Given the description of an element on the screen output the (x, y) to click on. 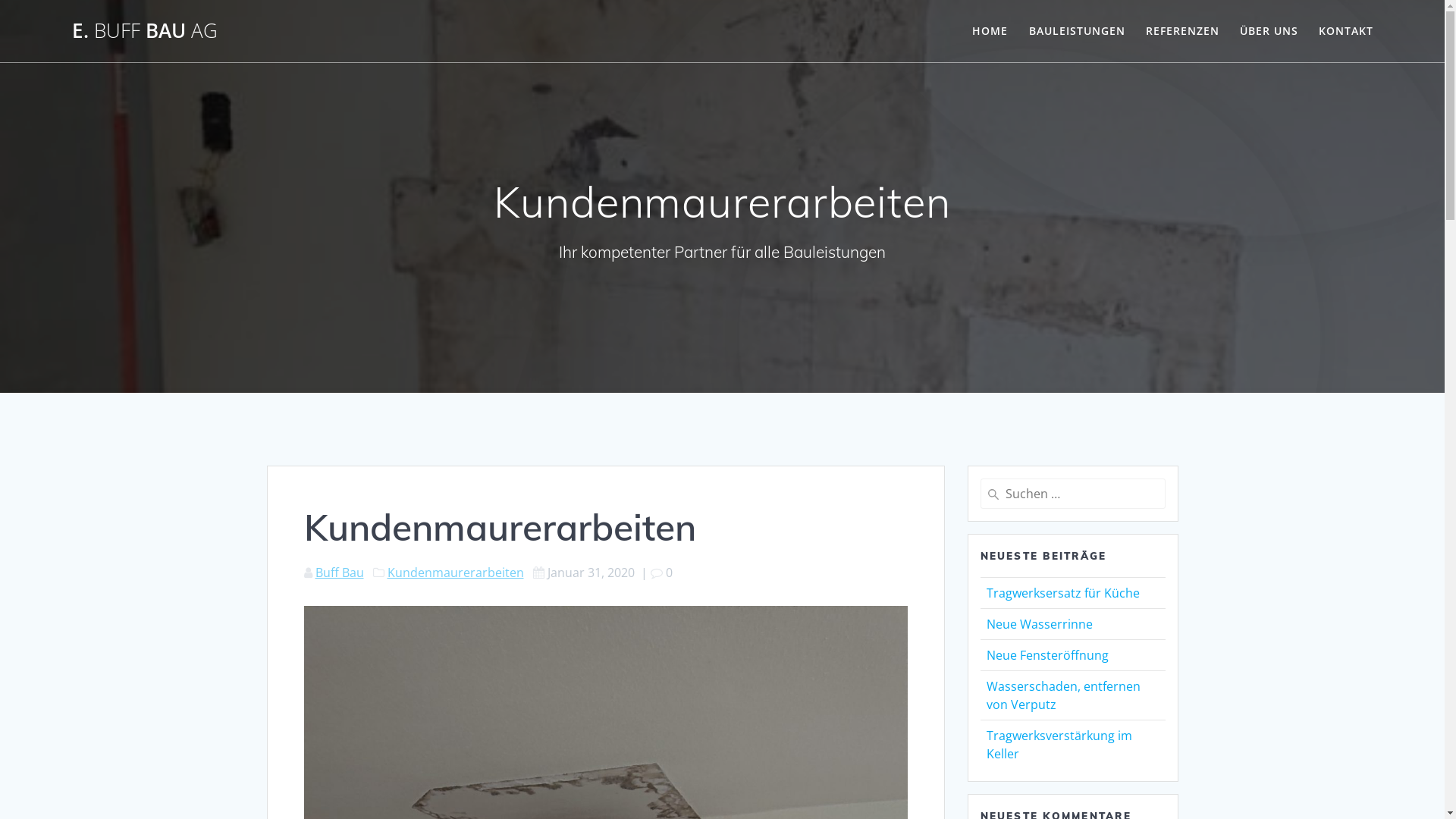
Buff Bau Element type: text (339, 572)
E. BUFF BAU AG Element type: text (144, 30)
HOME Element type: text (989, 30)
KONTAKT Element type: text (1345, 30)
Neue Wasserrinne Element type: text (1038, 623)
BAULEISTUNGEN Element type: text (1077, 30)
Wasserschaden, entfernen von Verputz Element type: text (1062, 694)
REFERENZEN Element type: text (1182, 30)
Kundenmaurerarbeiten Element type: text (454, 572)
